Given the description of an element on the screen output the (x, y) to click on. 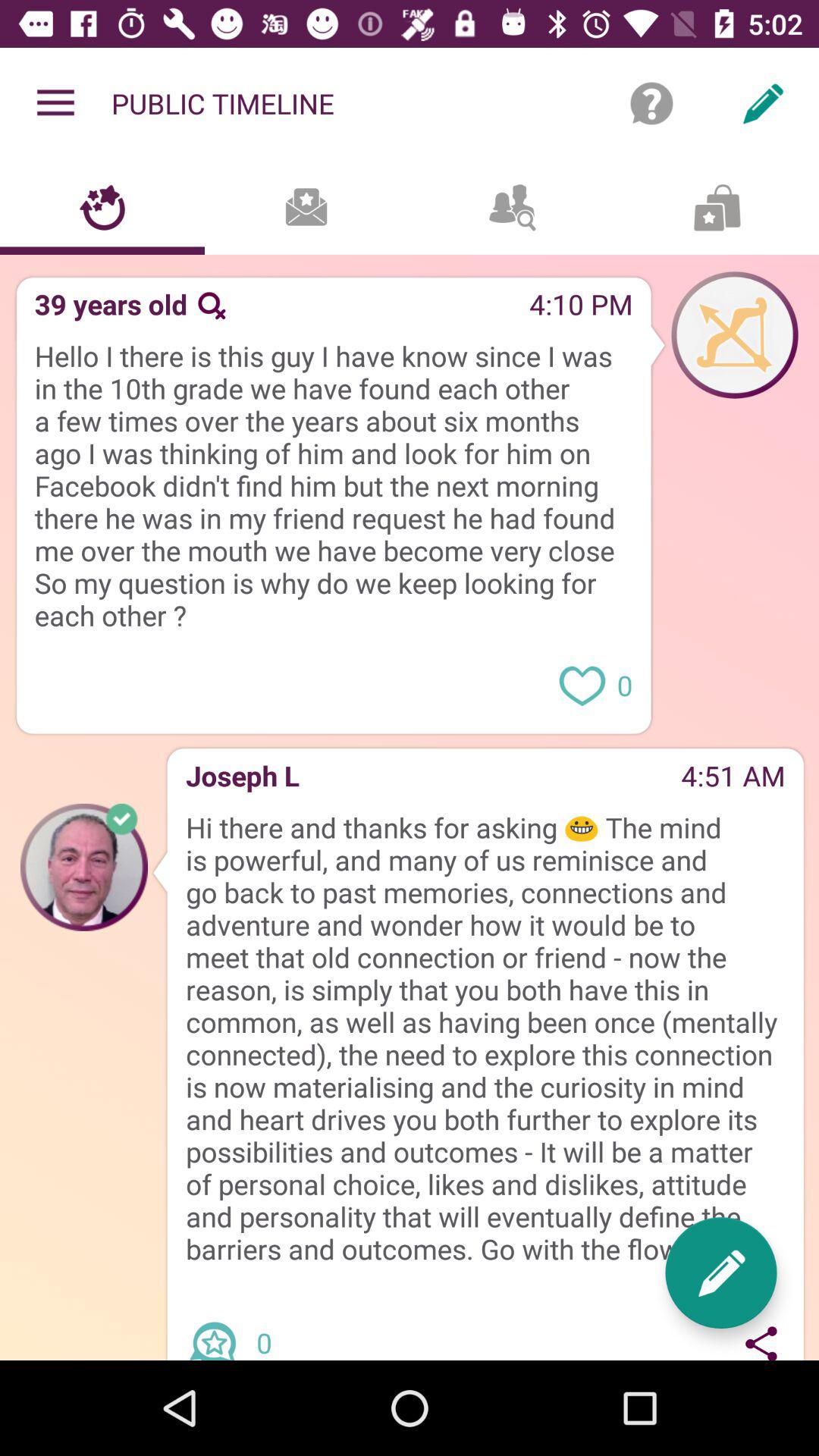
profile icon (734, 334)
